Given the description of an element on the screen output the (x, y) to click on. 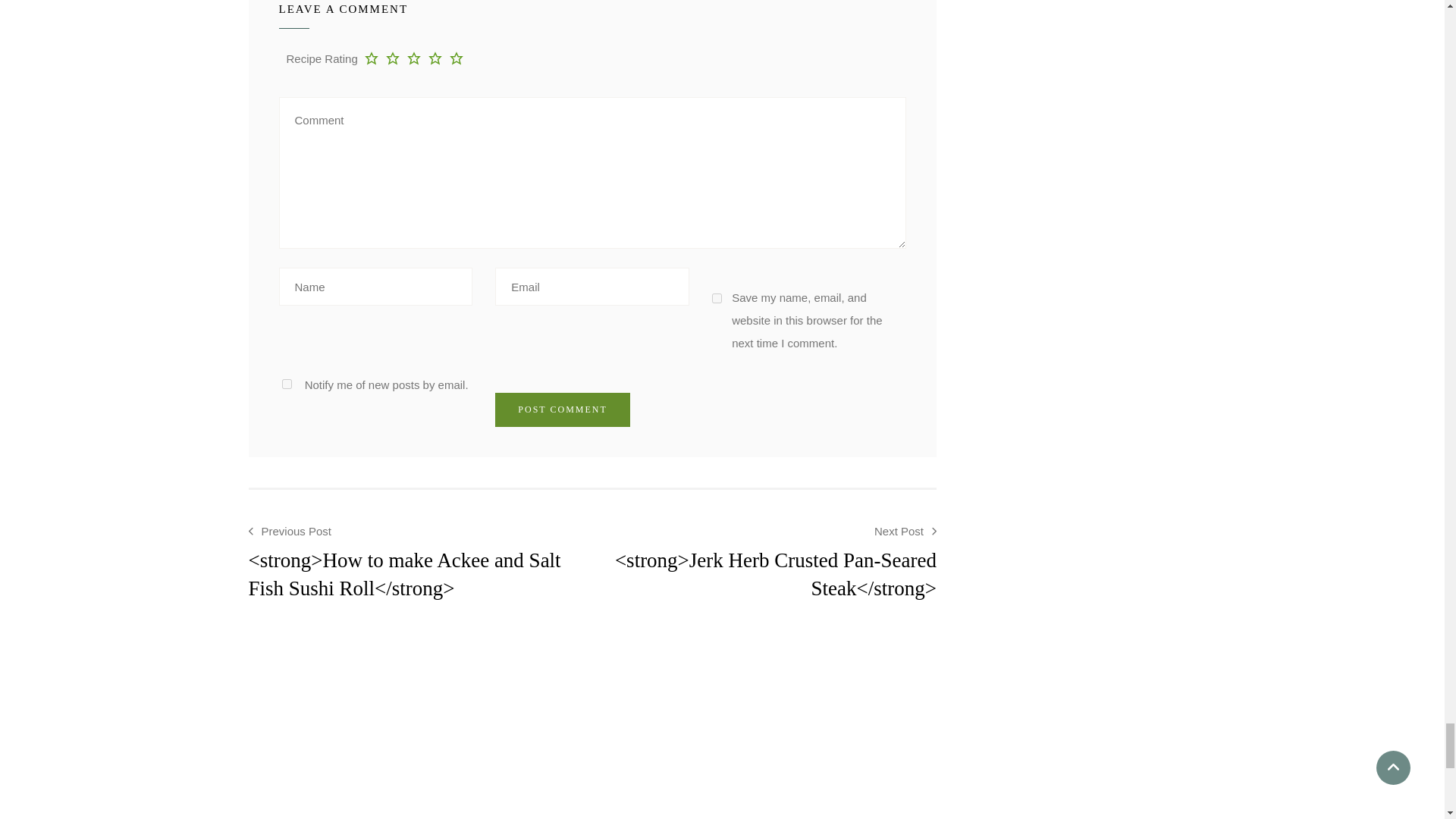
Post Comment (561, 409)
subscribe (287, 384)
